Given the description of an element on the screen output the (x, y) to click on. 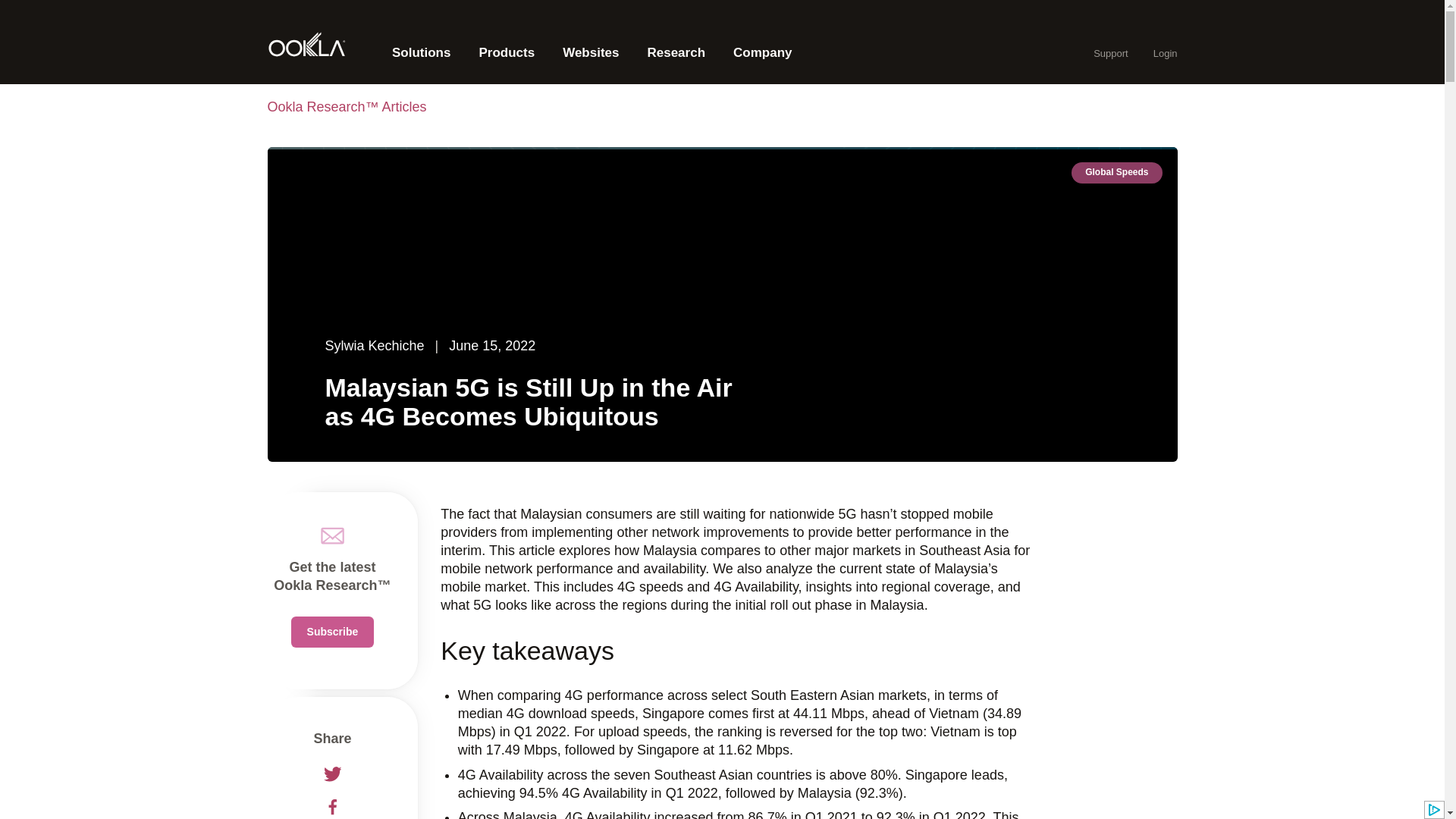
Products (506, 53)
Facebook (332, 808)
Support (1110, 52)
Solutions (421, 53)
Login (1165, 52)
Twitter (332, 776)
